Given the description of an element on the screen output the (x, y) to click on. 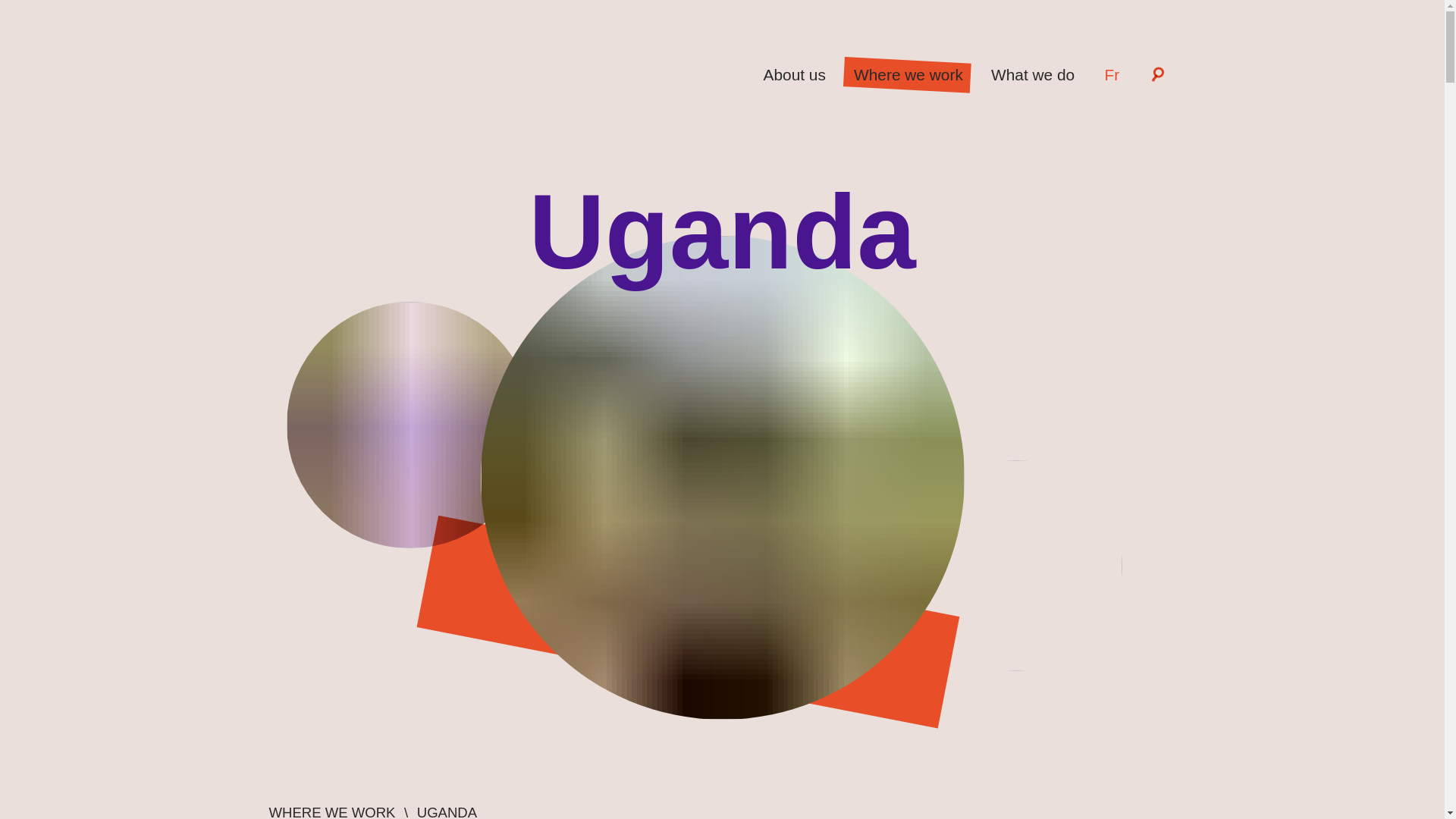
Fr (1112, 74)
About us (794, 74)
What we do (1032, 74)
Where we work (907, 74)
